Given the description of an element on the screen output the (x, y) to click on. 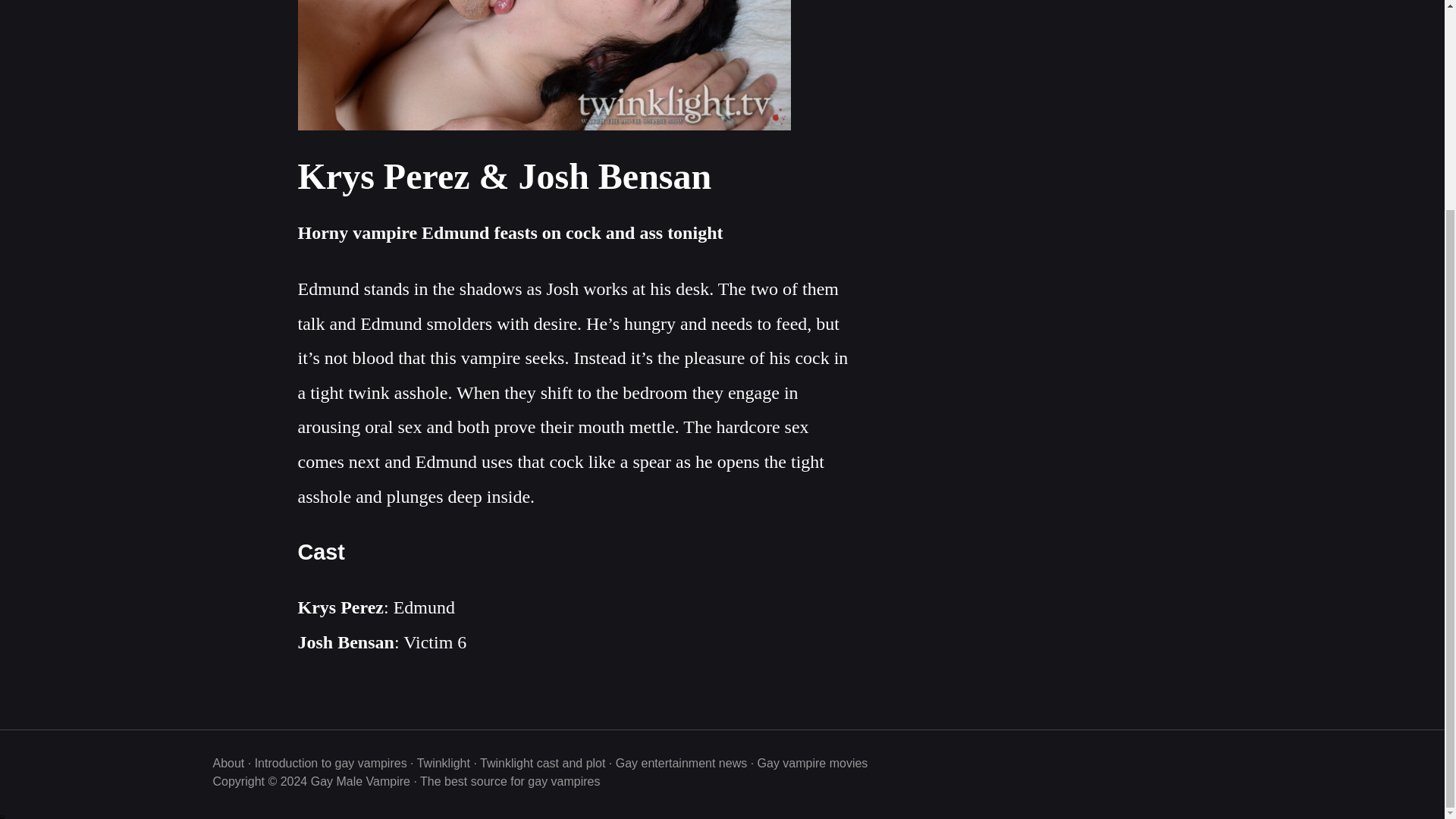
Twinklight cast and plot (542, 762)
About (228, 762)
Introduction to gay vampires (330, 762)
Twinklight (443, 762)
Gay vampire movies (812, 762)
Gay entertainment news (680, 762)
